Given the description of an element on the screen output the (x, y) to click on. 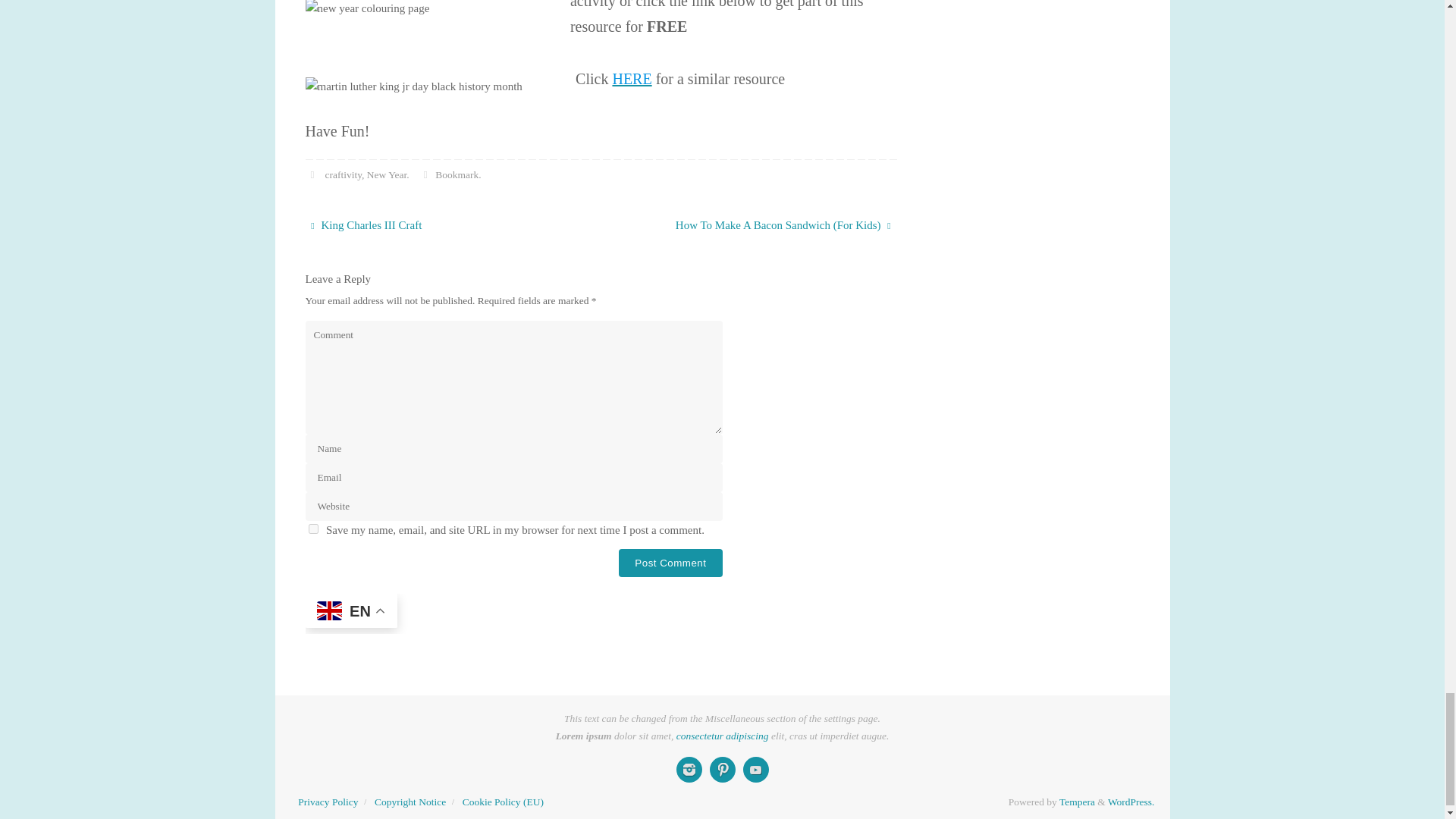
INSTAGRAM (689, 769)
Bookmark (457, 174)
yes (312, 528)
King Charles III Craft (443, 225)
 Bookmark the permalink (425, 174)
craftivity (342, 174)
Post Comment (670, 562)
HERE (630, 78)
Tagged (311, 174)
New Year (386, 174)
